Given the description of an element on the screen output the (x, y) to click on. 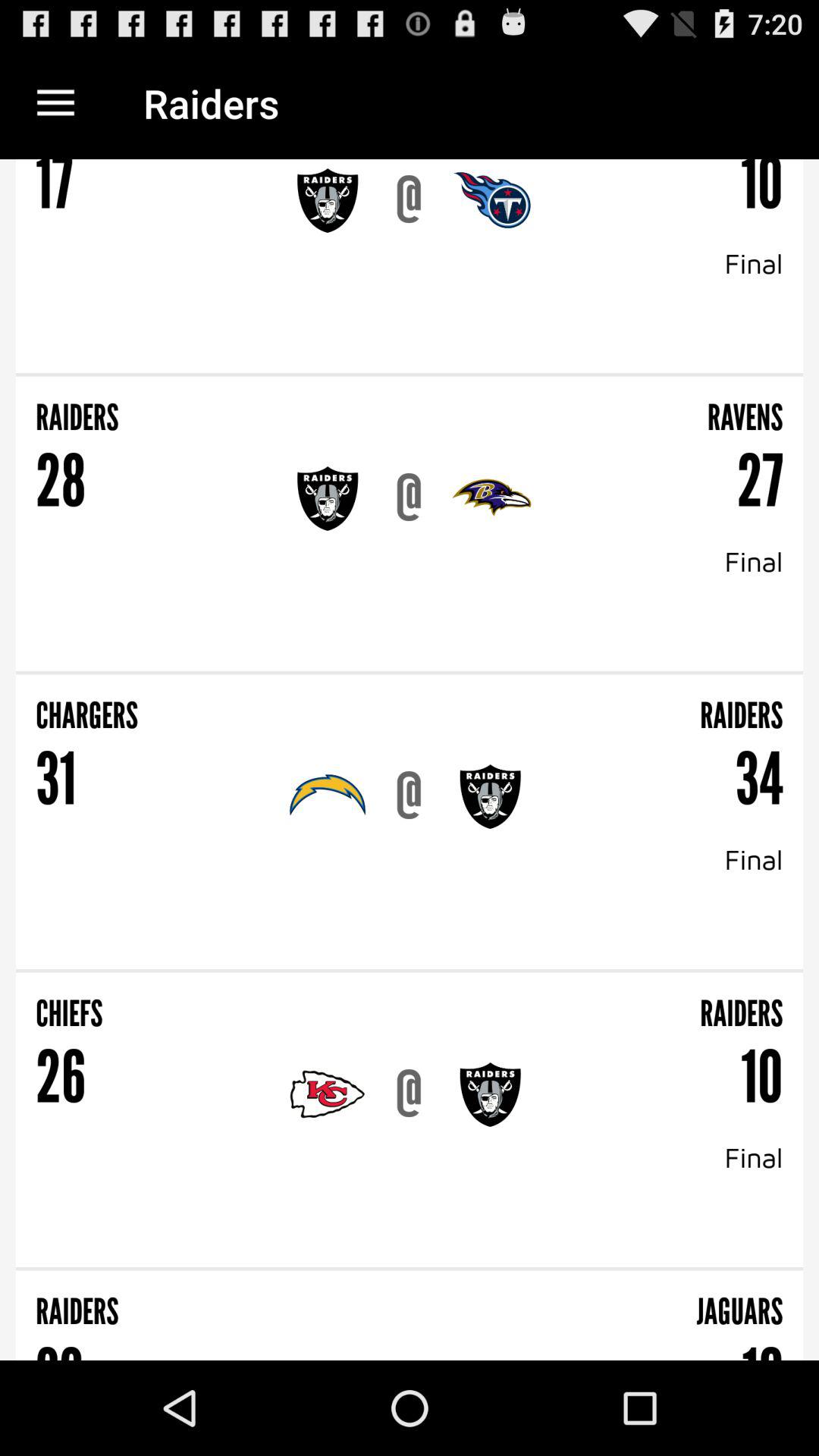
click icon below the final item (409, 971)
